Given the description of an element on the screen output the (x, y) to click on. 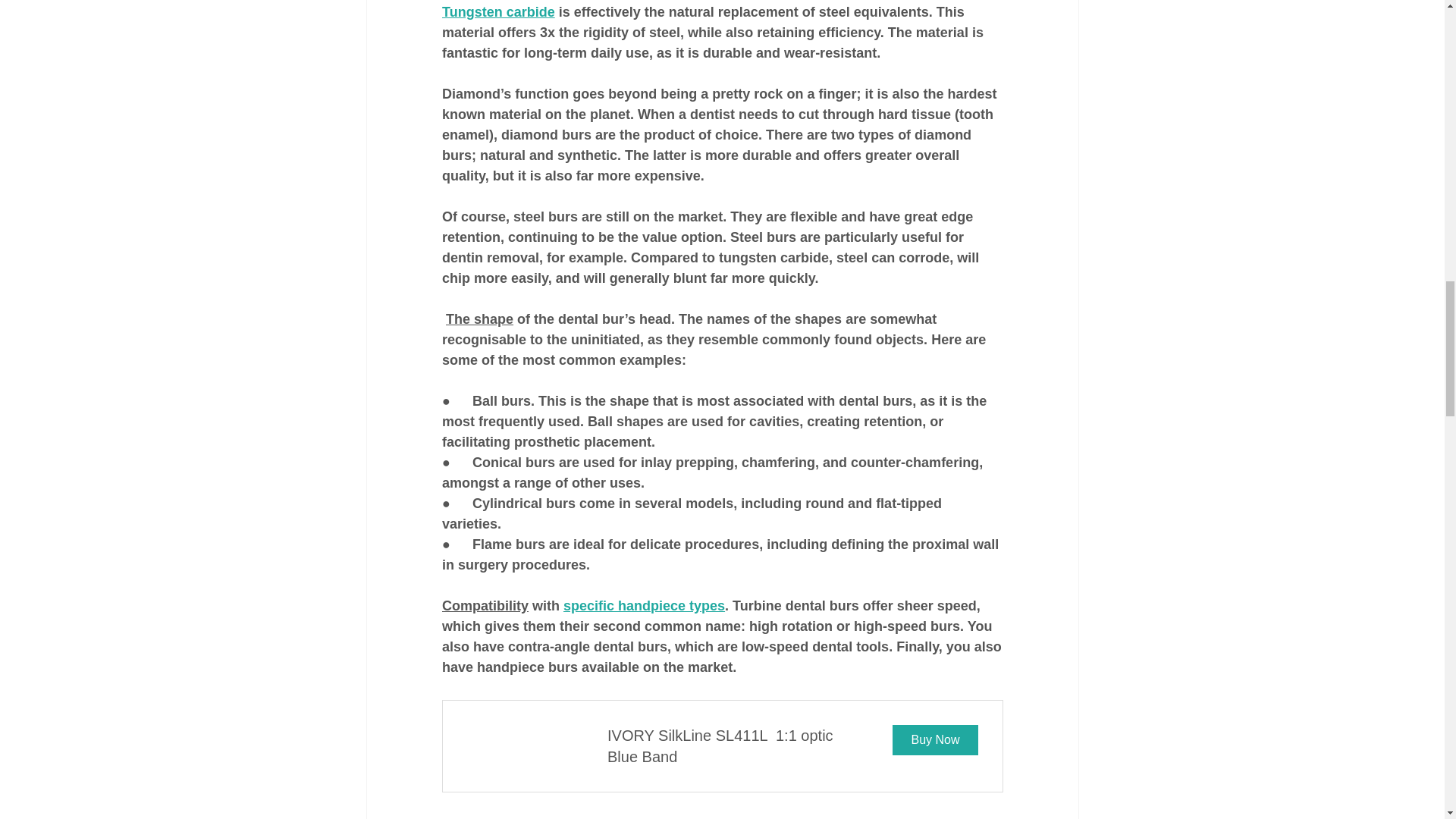
Tungsten carbide (497, 11)
specific handpiece types (722, 746)
